Given the description of an element on the screen output the (x, y) to click on. 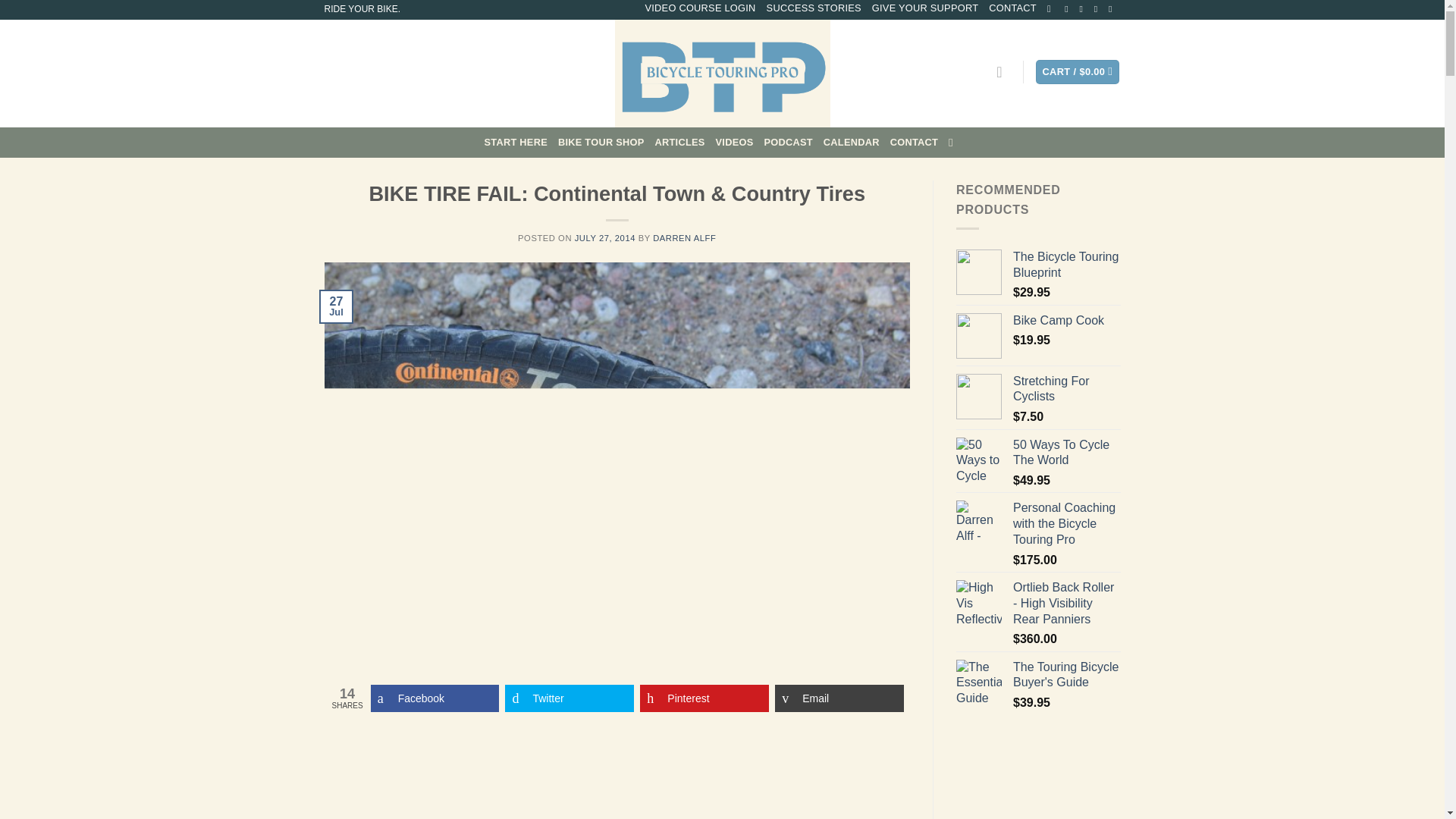
CALENDAR (851, 142)
Share on Facebook (435, 697)
CONTACT (913, 142)
DARREN ALFF (684, 237)
Share on Email (839, 697)
Facebook (435, 697)
Email (839, 697)
Share on Twitter (569, 697)
Cart (1077, 72)
VIDEOS (735, 142)
